Given the description of an element on the screen output the (x, y) to click on. 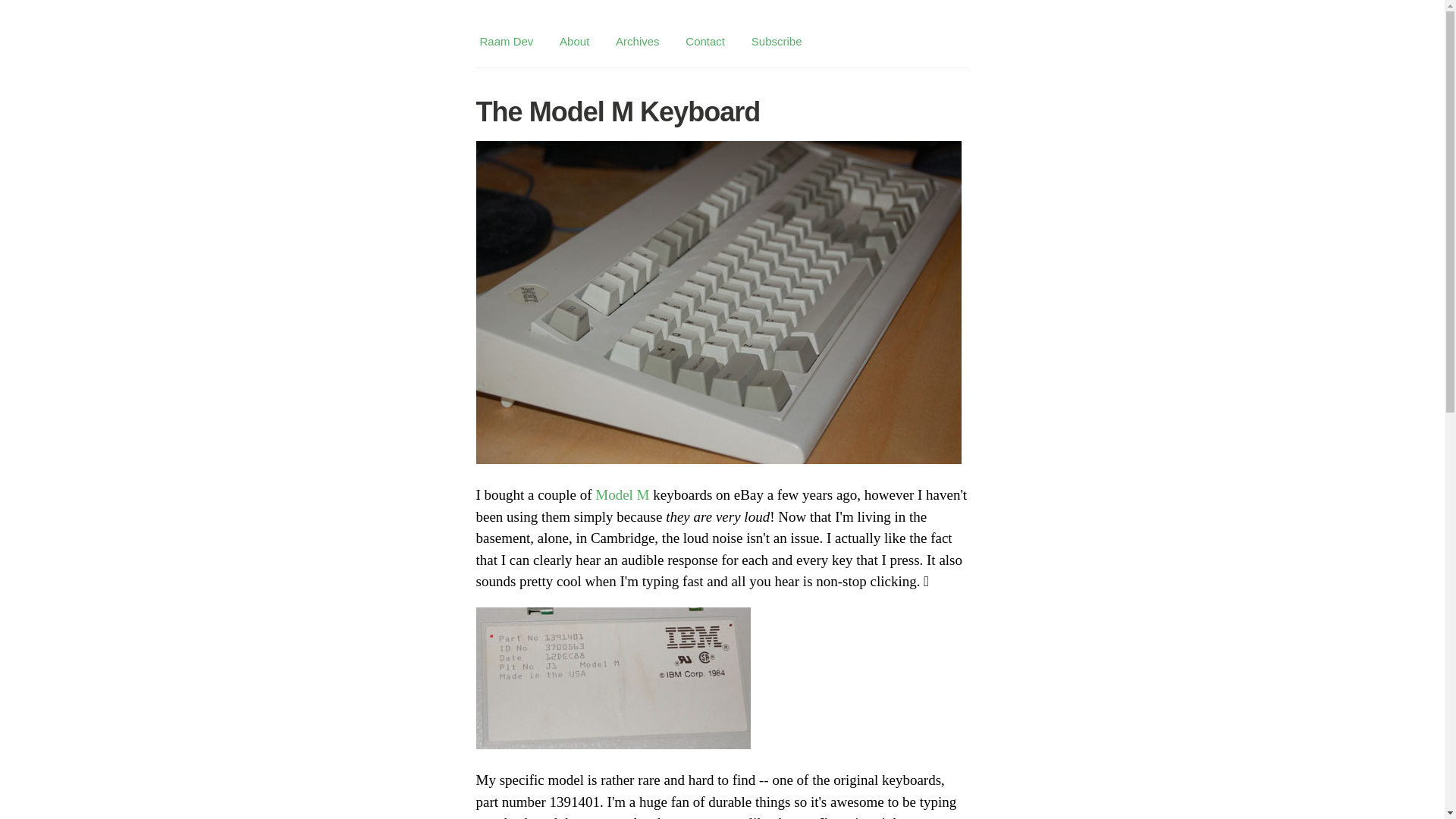
Model M (622, 494)
Archives (637, 41)
Contact (705, 41)
Subscribe (777, 41)
About (574, 41)
Raam Dev (506, 41)
